Given the description of an element on the screen output the (x, y) to click on. 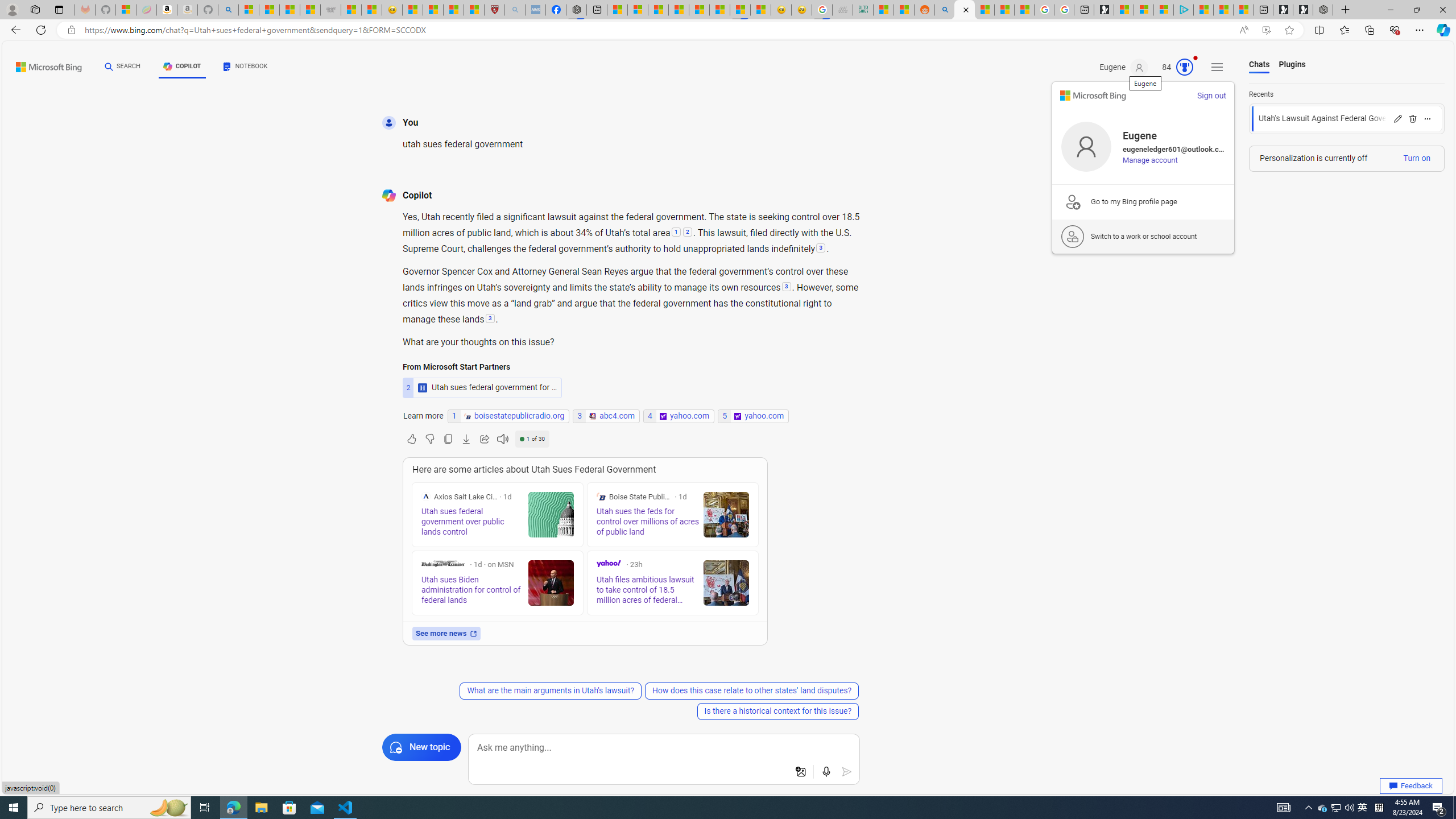
work signin (1072, 236)
Utah sues Biden administration for control of federal lands (550, 583)
Turn on (1416, 157)
Export (466, 438)
Is there a historical context for this issue? (778, 710)
Utah sues federal government over public lands control (550, 514)
